Given the description of an element on the screen output the (x, y) to click on. 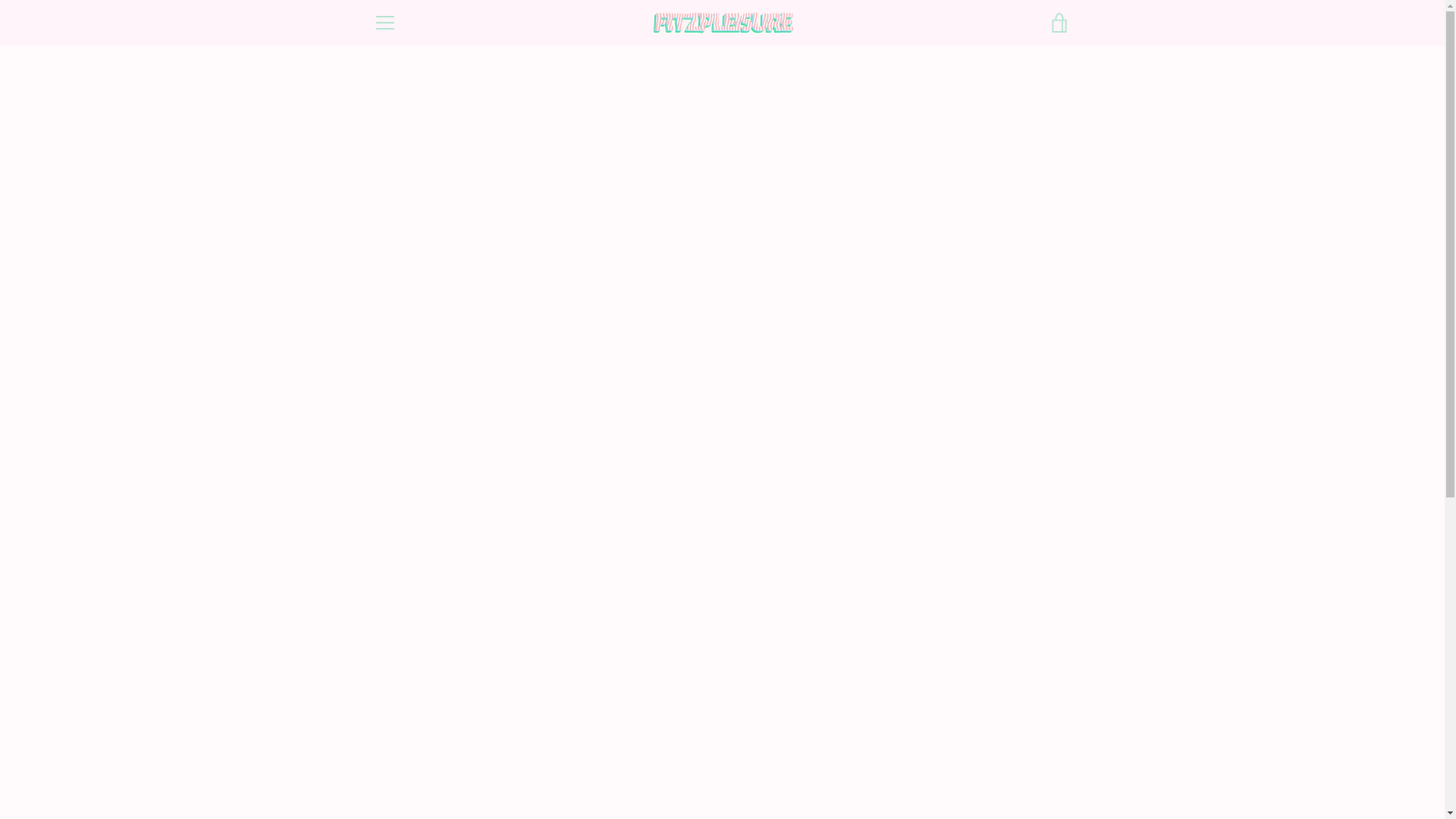
MENU (384, 22)
VIEW CART (1059, 22)
